Given the description of an element on the screen output the (x, y) to click on. 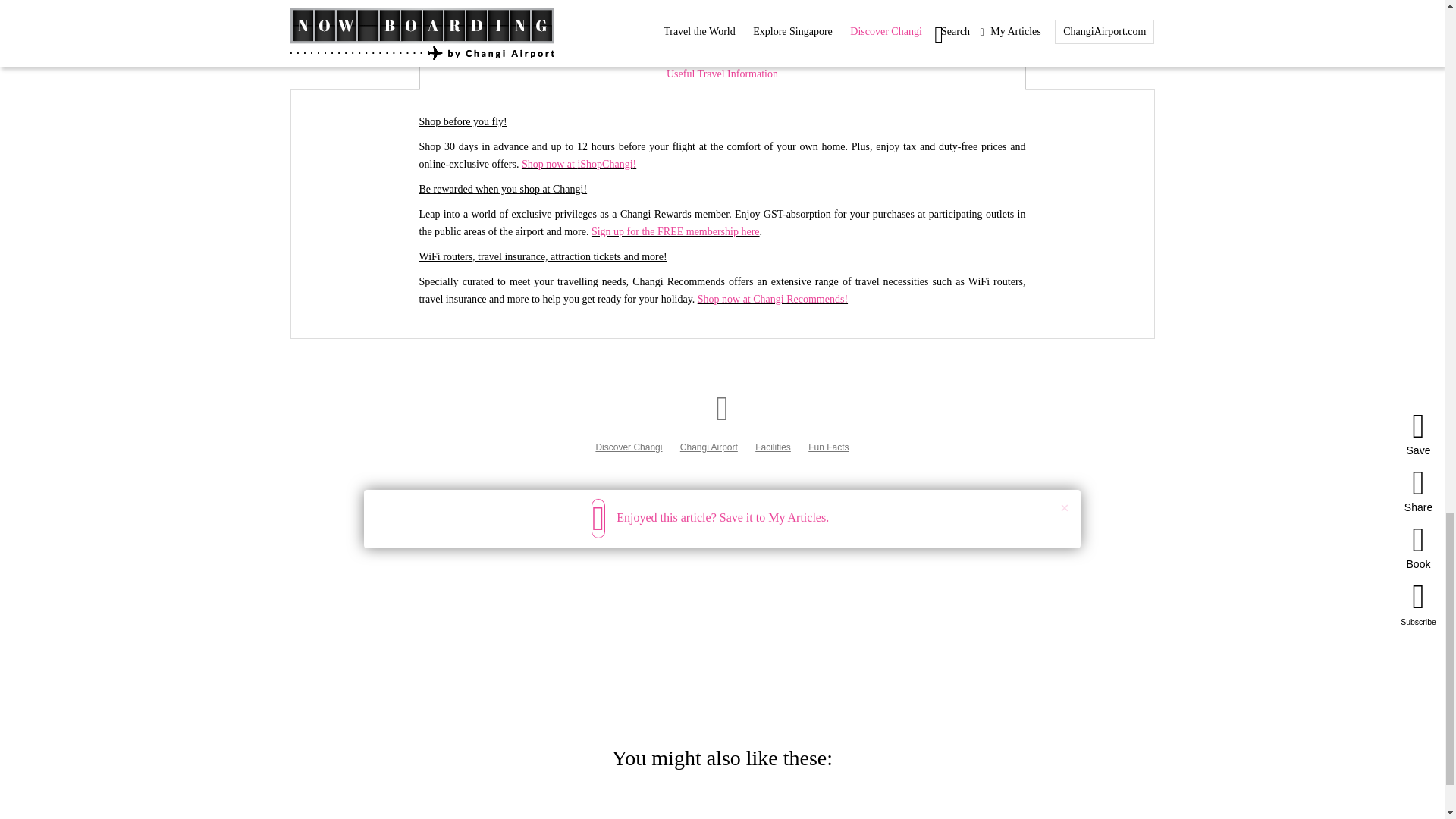
iShopChangi (603, 163)
Sign up for the FREE membership here (675, 231)
Discover Changi (628, 447)
Shop now at Changi Recommends! (772, 298)
Useful Travel Information (722, 73)
Shop now at (549, 163)
